Given the description of an element on the screen output the (x, y) to click on. 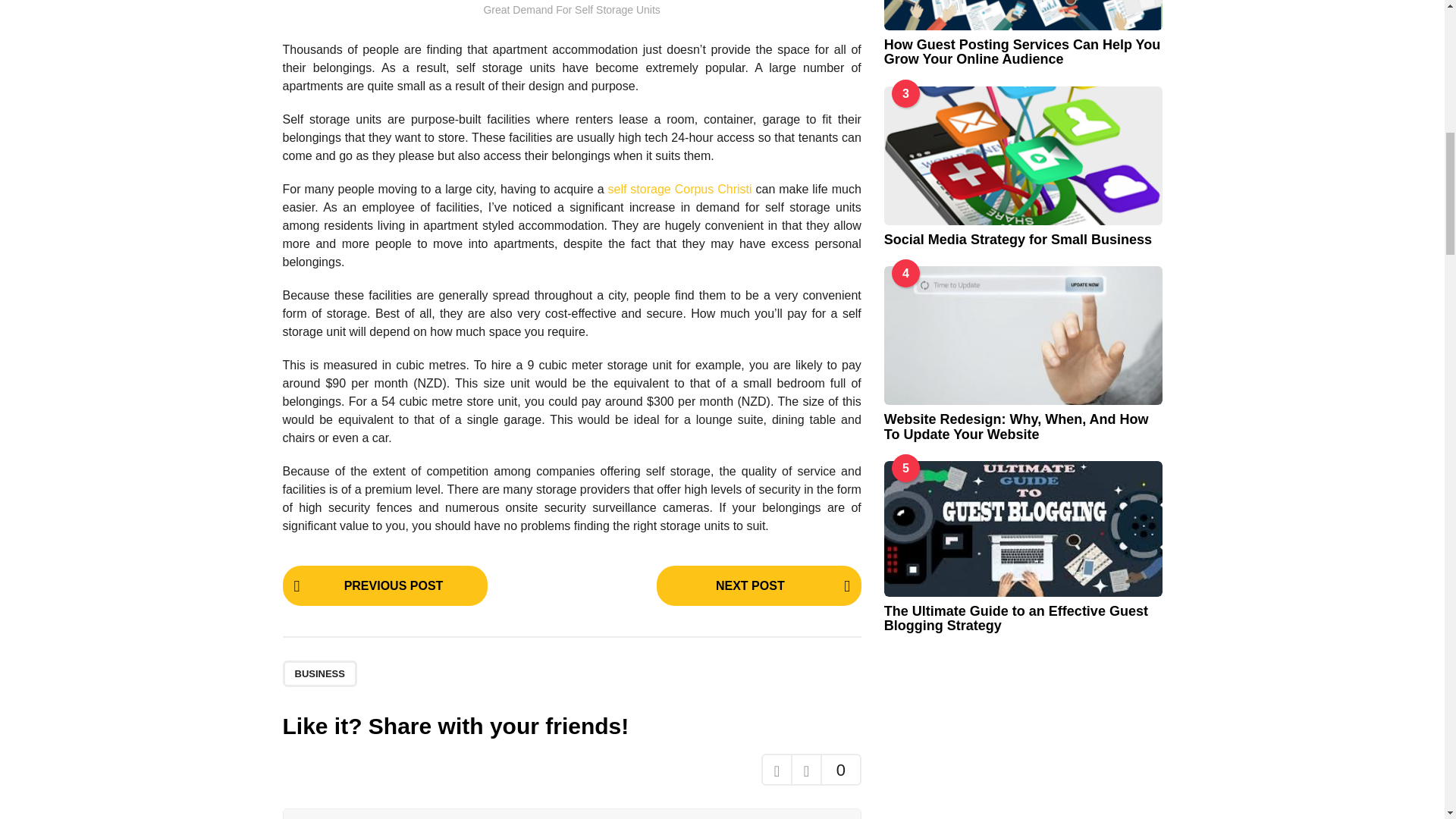
self storage Corpus Christi (680, 188)
PREVIOUS POST (384, 585)
NEXT POST (758, 585)
BUSINESS (319, 673)
